Given the description of an element on the screen output the (x, y) to click on. 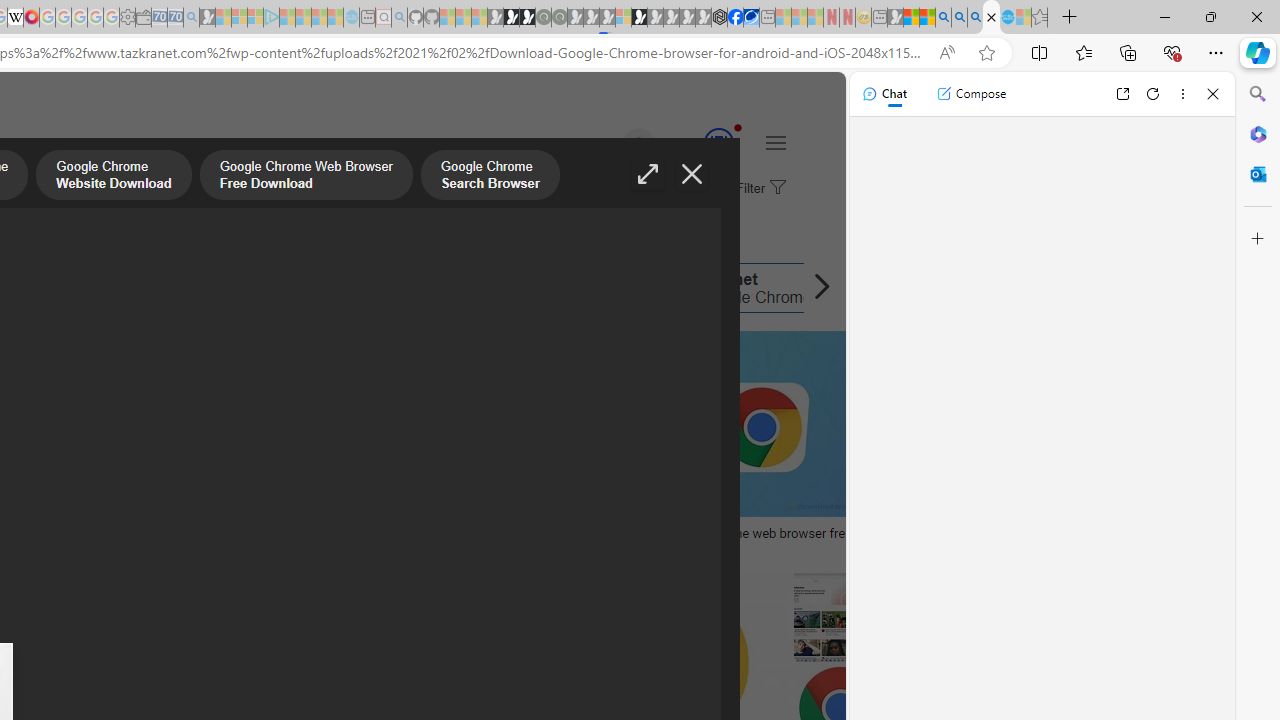
Google Chrome Fast Download (542, 287)
How to download & install Chrome on Windows 10 /11Save (478, 448)
How to download & install Chrome on Windows 10 /11 (470, 533)
Eugene (611, 143)
AirNow.gov (751, 17)
Google chrome web browser free download for Mac and Window (817, 541)
wizardsgase - BlogSave (208, 448)
